Given the description of an element on the screen output the (x, y) to click on. 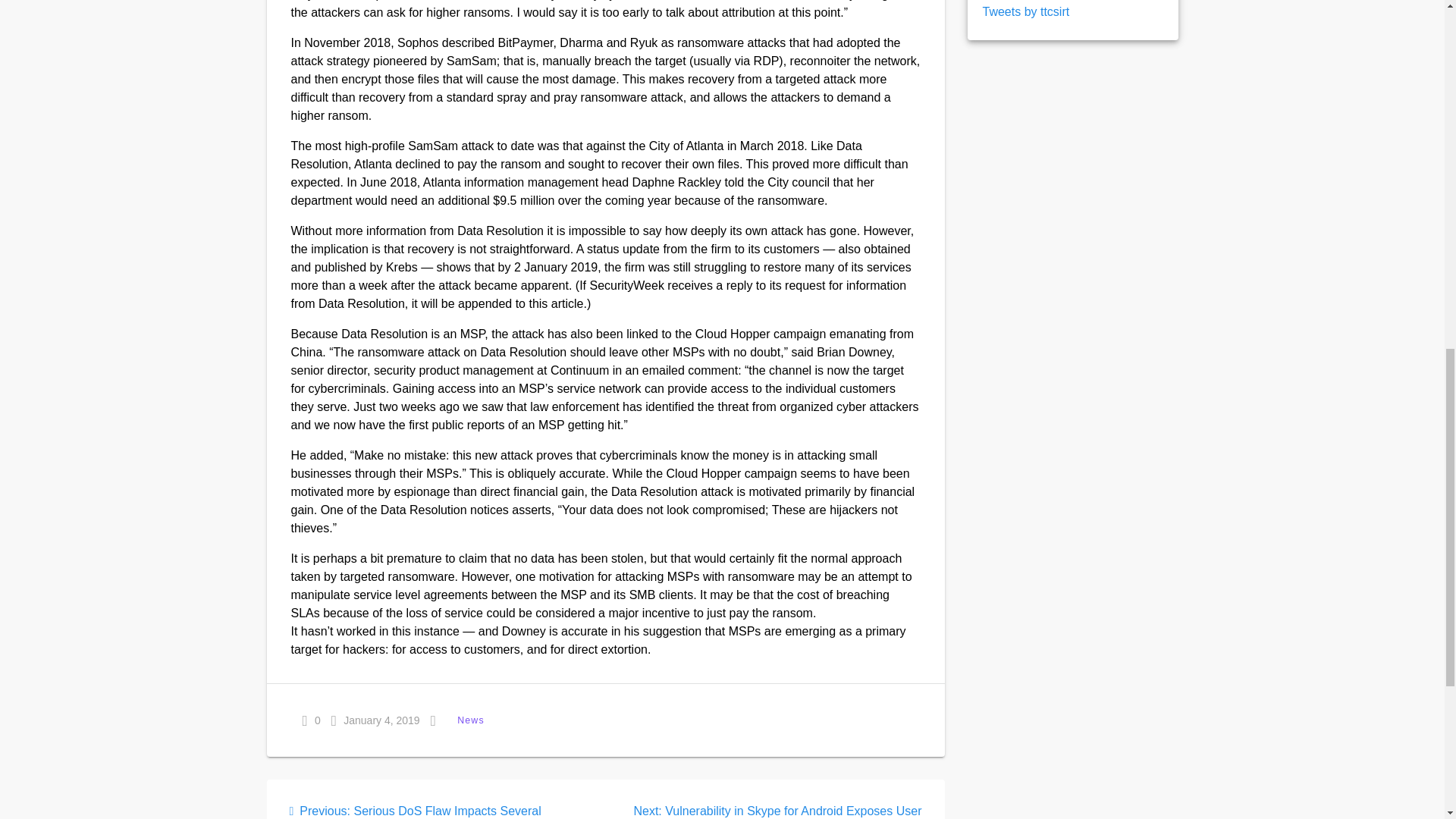
News (470, 720)
January 4, 2019 (375, 720)
0 (310, 720)
